Given the description of an element on the screen output the (x, y) to click on. 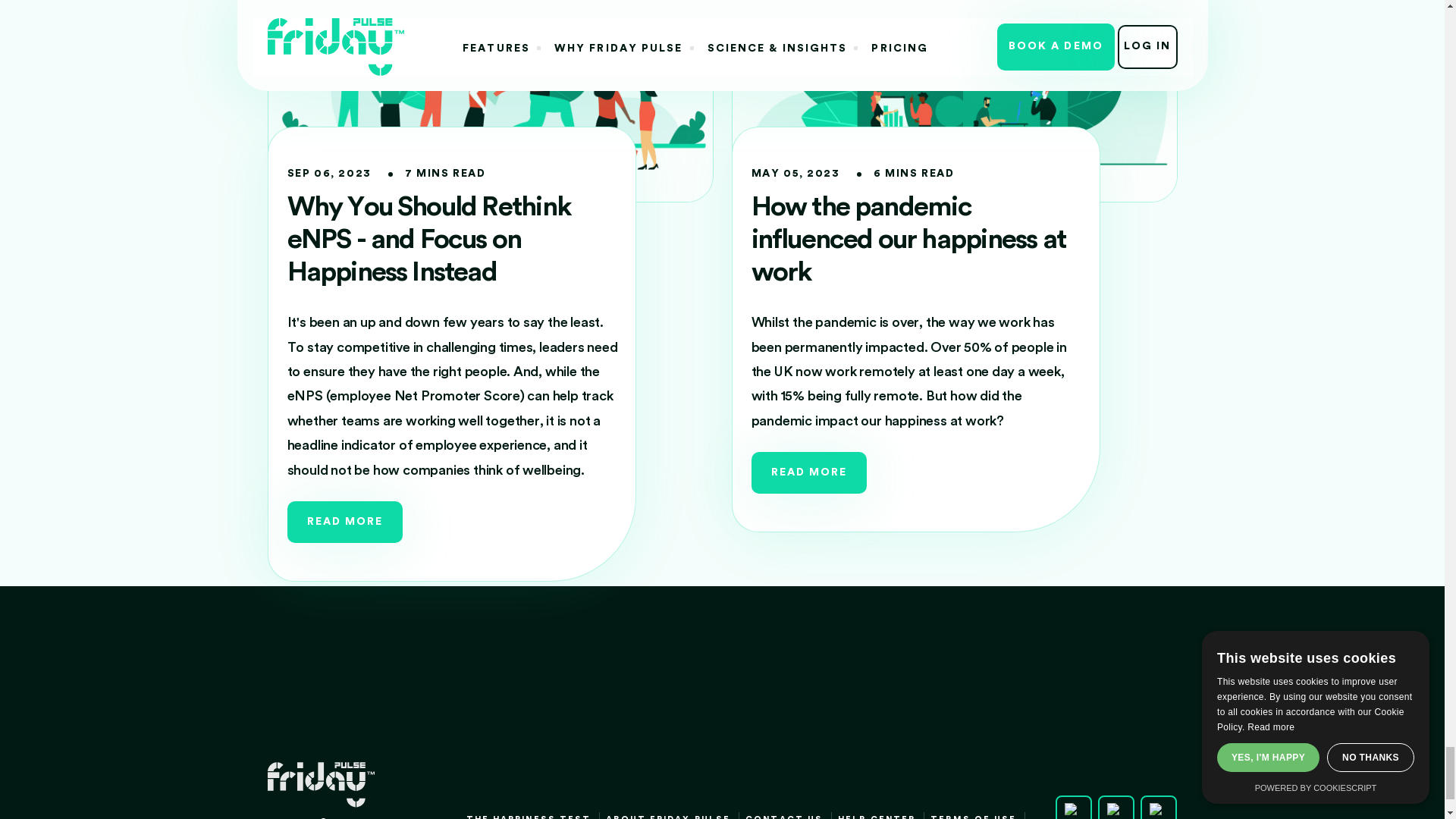
READ MORE (808, 472)
How the pandemic influenced our happiness at work (907, 238)
Read the full article (344, 521)
Read the full article (907, 238)
Read the full article (808, 472)
READ MORE (344, 521)
Read the full article (428, 238)
Why You Should Rethink eNPS - and Focus on Happiness Instead (428, 238)
